Given the description of an element on the screen output the (x, y) to click on. 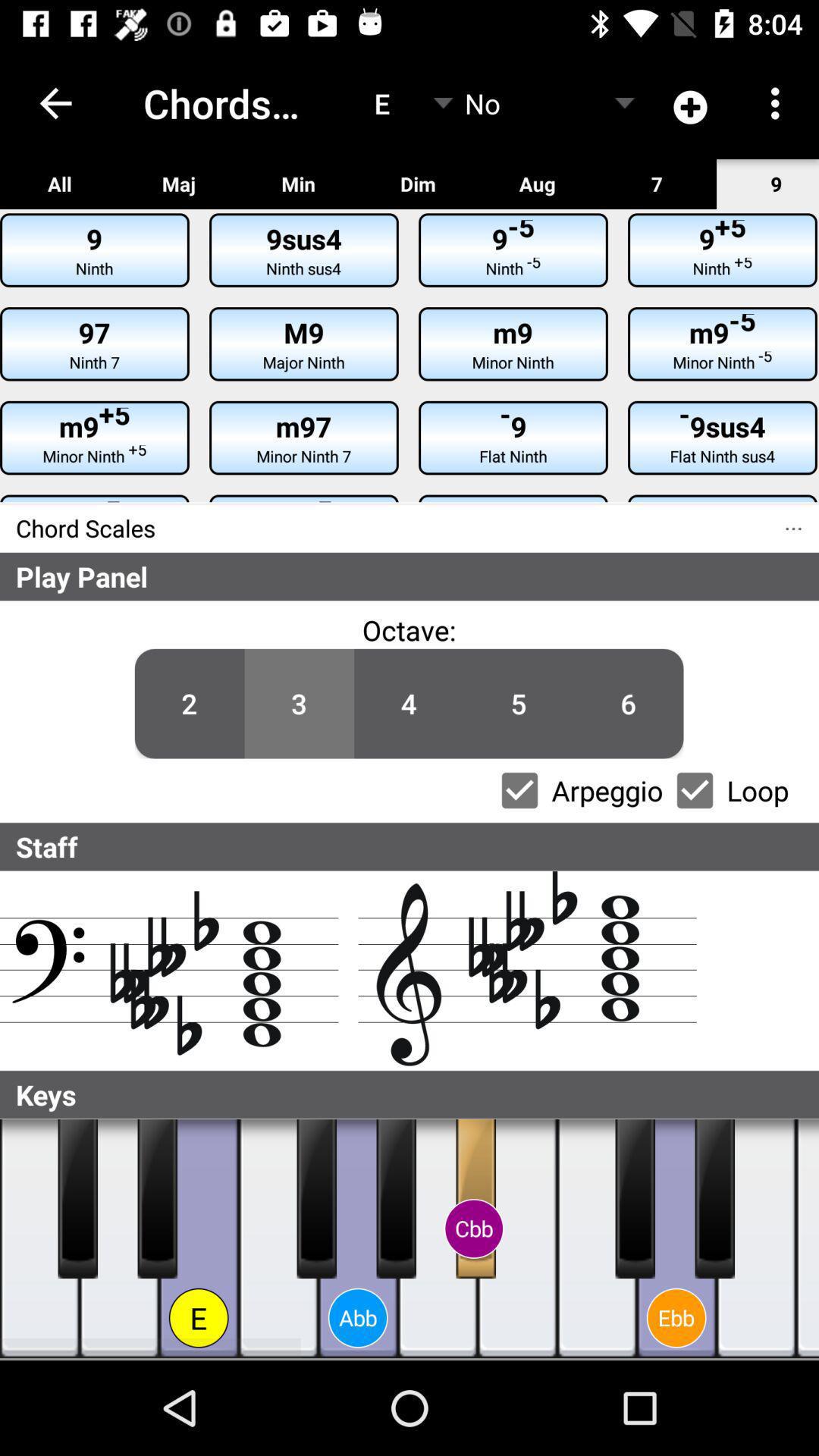
key piano (77, 1198)
